Given the description of an element on the screen output the (x, y) to click on. 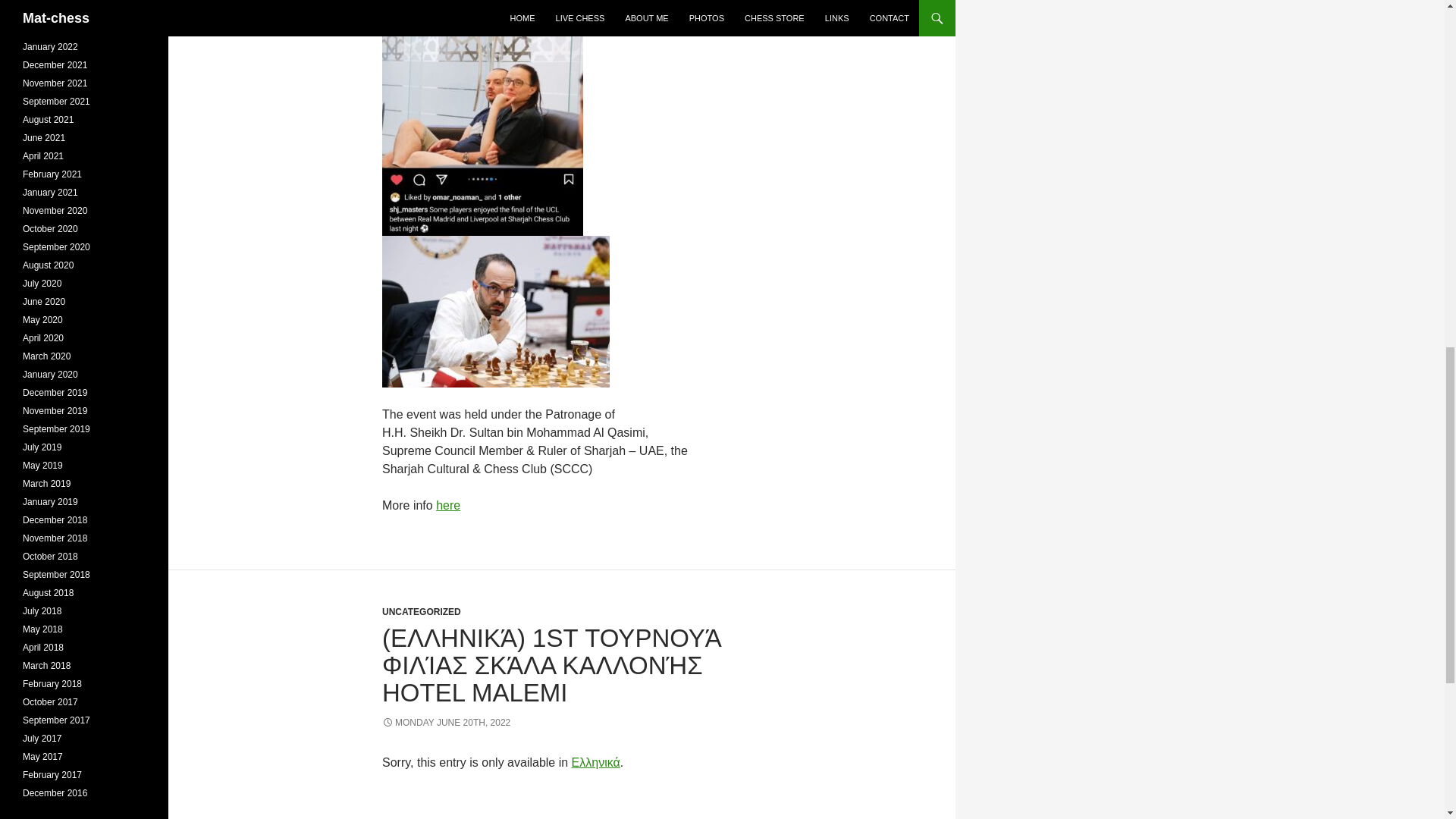
MONDAY JUNE 20TH, 2022 (446, 722)
here (447, 504)
UNCATEGORIZED (421, 611)
